Given the description of an element on the screen output the (x, y) to click on. 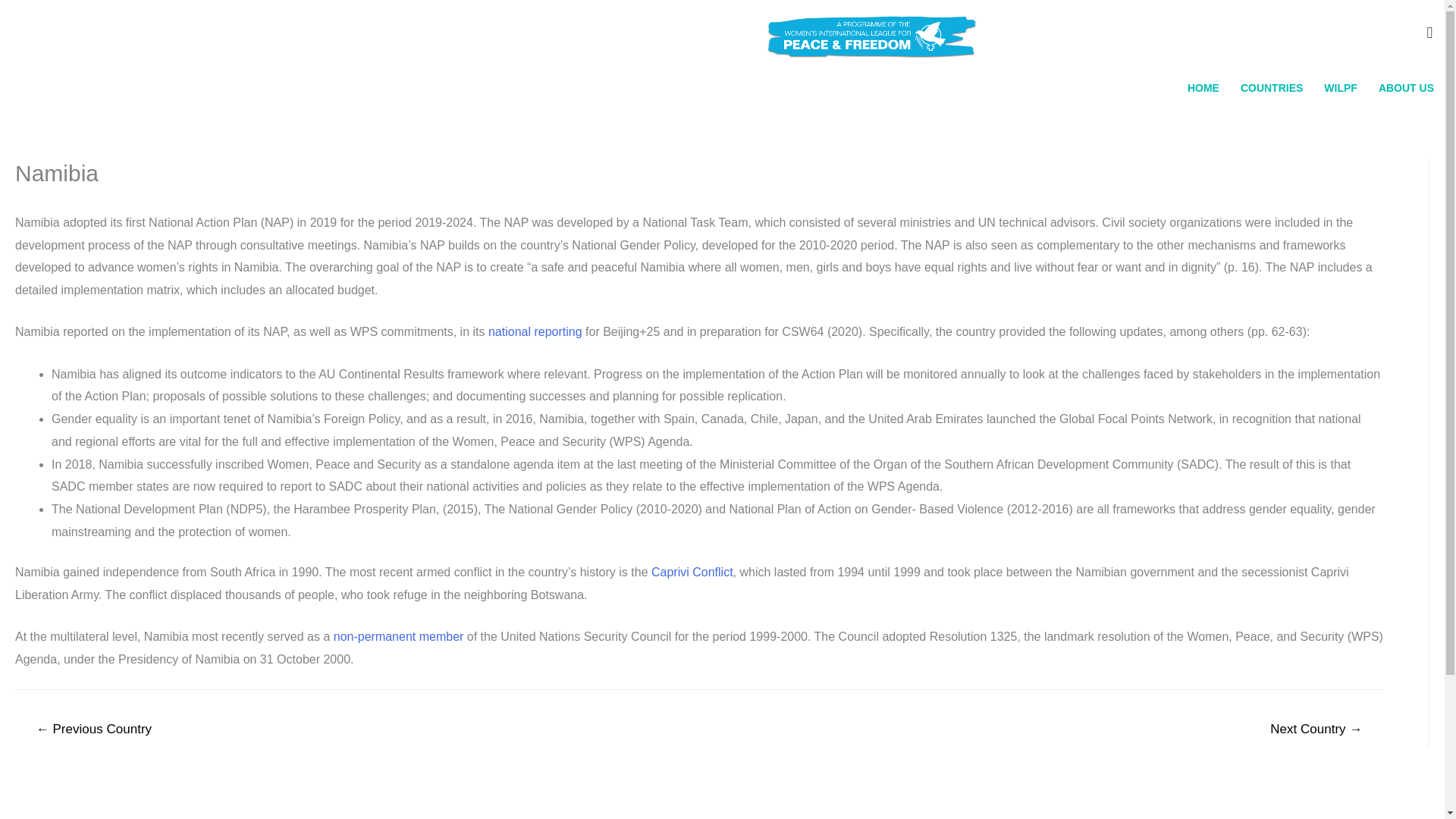
Search (18, 17)
HOME (1203, 87)
Caprivi Conflict (691, 571)
COUNTRIES (1271, 87)
national reporting (534, 331)
non-permanent member (398, 635)
WILPF (1340, 87)
